Given the description of an element on the screen output the (x, y) to click on. 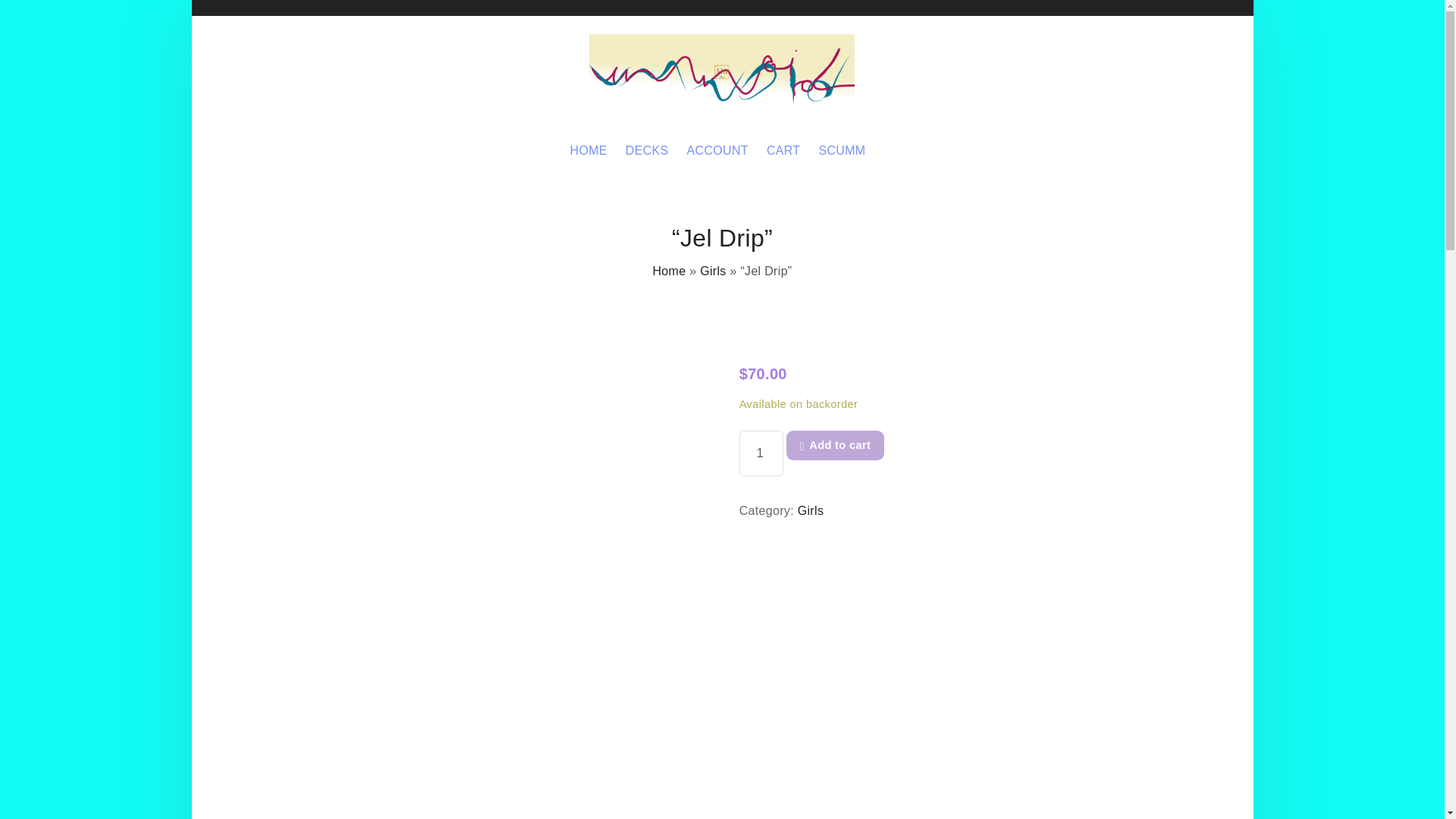
Home (668, 270)
SCUMM (841, 150)
Girls (712, 270)
CART (783, 150)
ACCOUNT (717, 150)
Girls (810, 510)
1 (761, 452)
DECKS (647, 150)
HOME (588, 150)
Add to cart (834, 445)
